Given the description of an element on the screen output the (x, y) to click on. 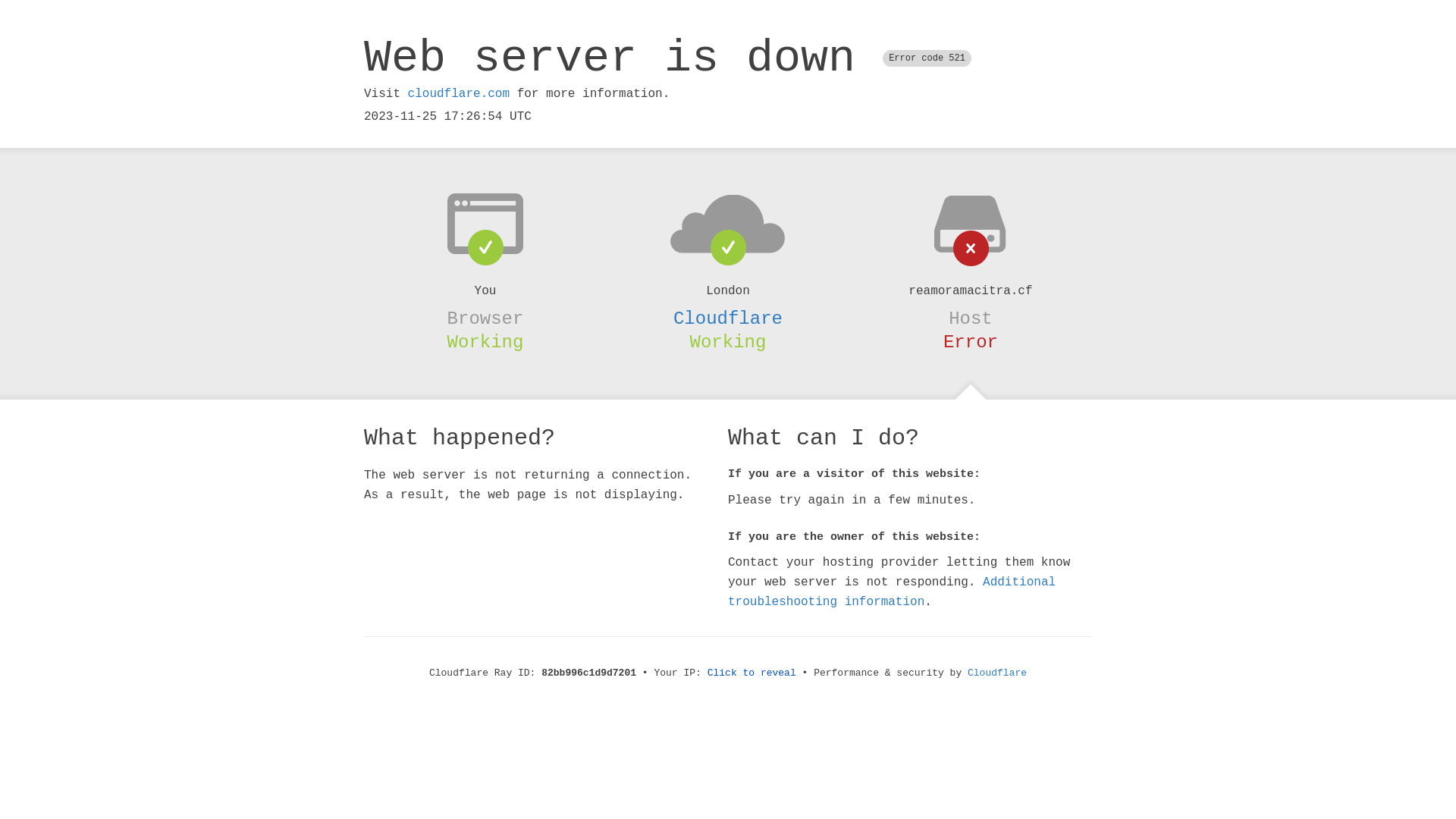
Click to reveal Element type: text (751, 672)
Cloudflare Element type: text (996, 672)
cloudflare.com Element type: text (458, 93)
Additional troubleshooting information Element type: text (891, 591)
Cloudflare Element type: text (727, 318)
